Given the description of an element on the screen output the (x, y) to click on. 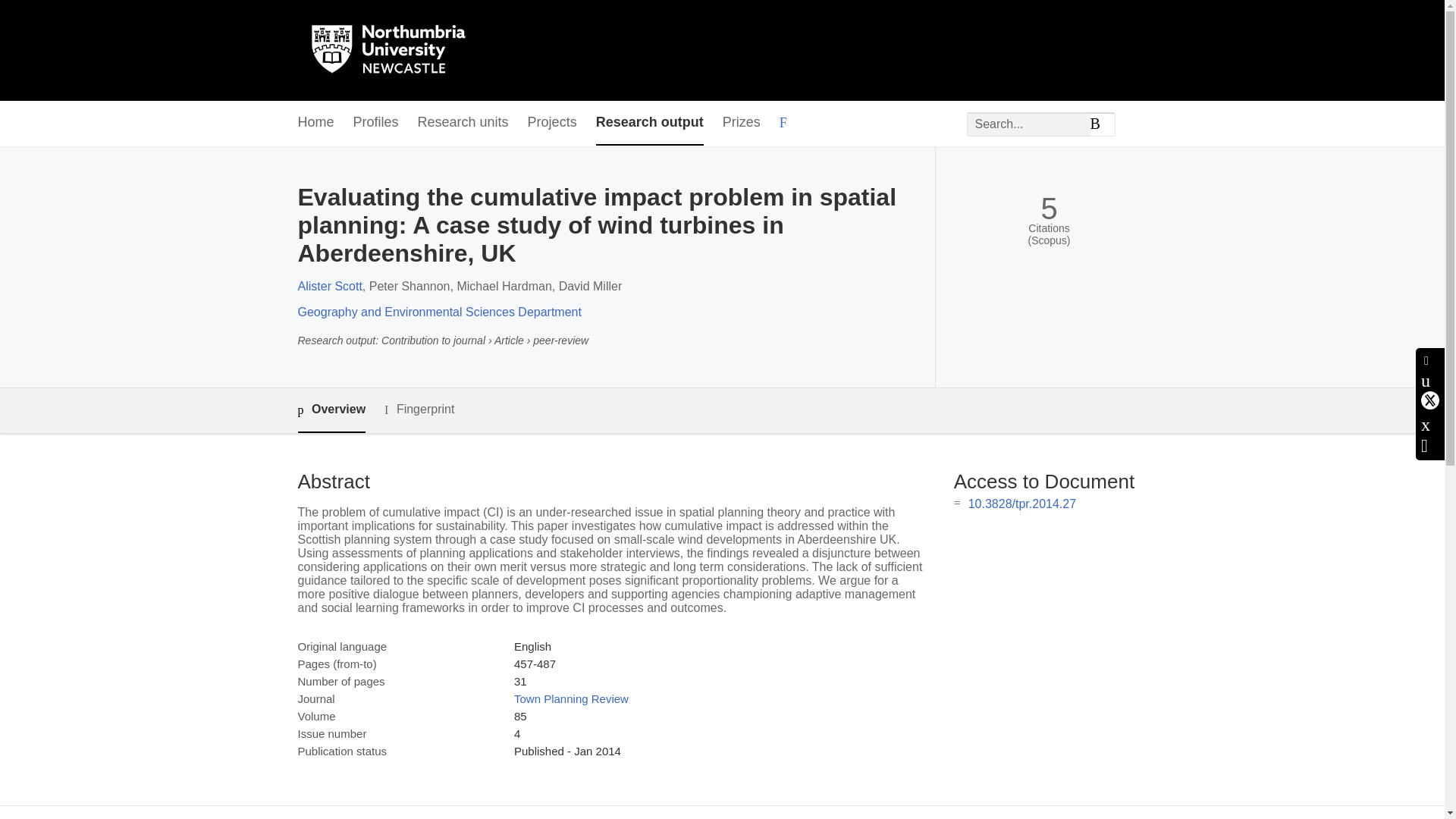
Alister Scott (329, 286)
Town Planning Review (570, 698)
Fingerprint (419, 409)
Research units (462, 122)
Research output (649, 122)
Profiles (375, 122)
Geography and Environmental Sciences Department (438, 311)
Overview (331, 410)
Northumbria University Research Portal Home (398, 50)
Projects (551, 122)
